Given the description of an element on the screen output the (x, y) to click on. 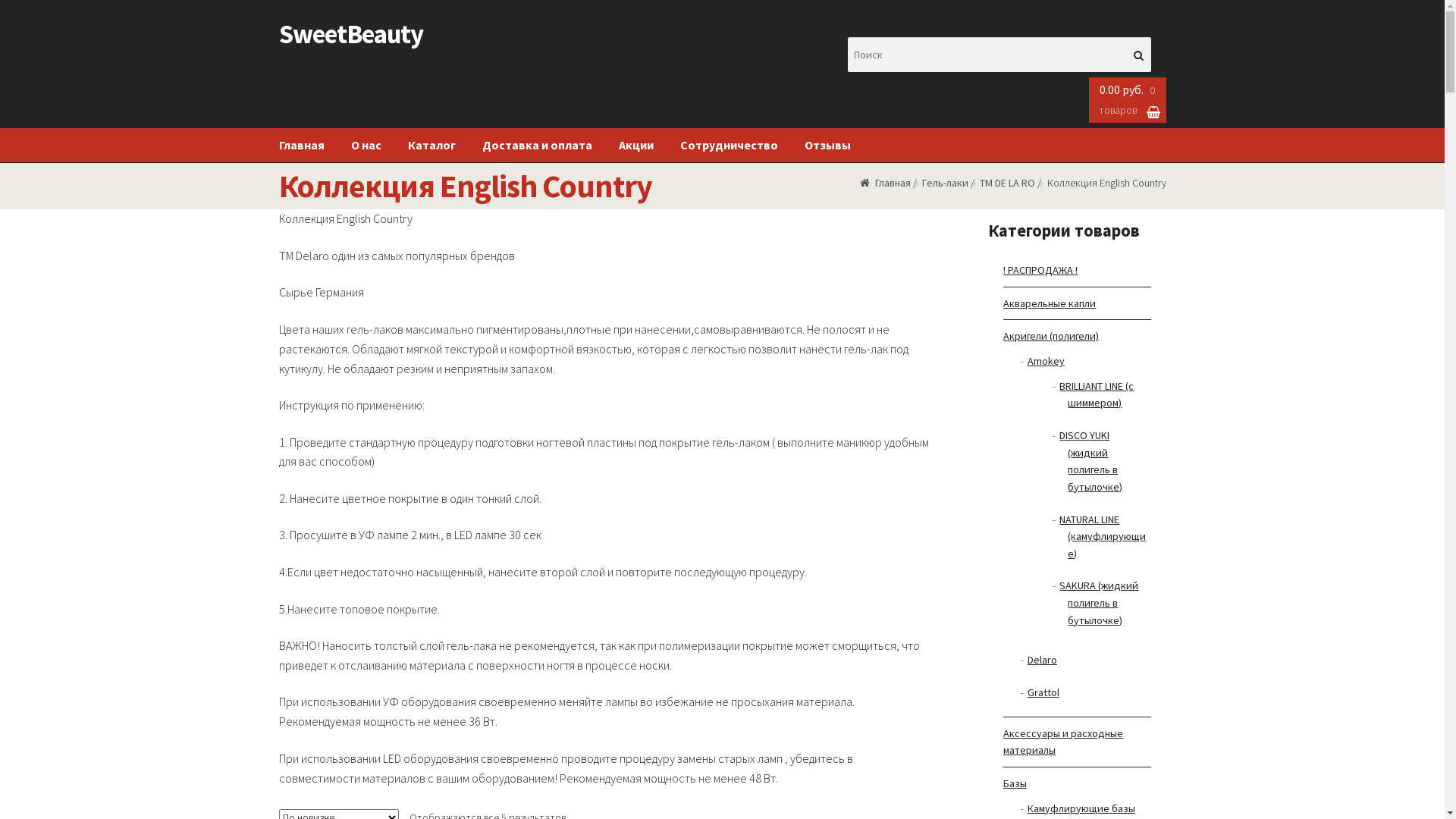
TM DE LA RO Element type: text (1007, 182)
Delaro Element type: text (1042, 659)
SweetBeauty Element type: text (351, 33)
Amokey Element type: text (1045, 360)
Grattol Element type: text (1043, 692)
